Given the description of an element on the screen output the (x, y) to click on. 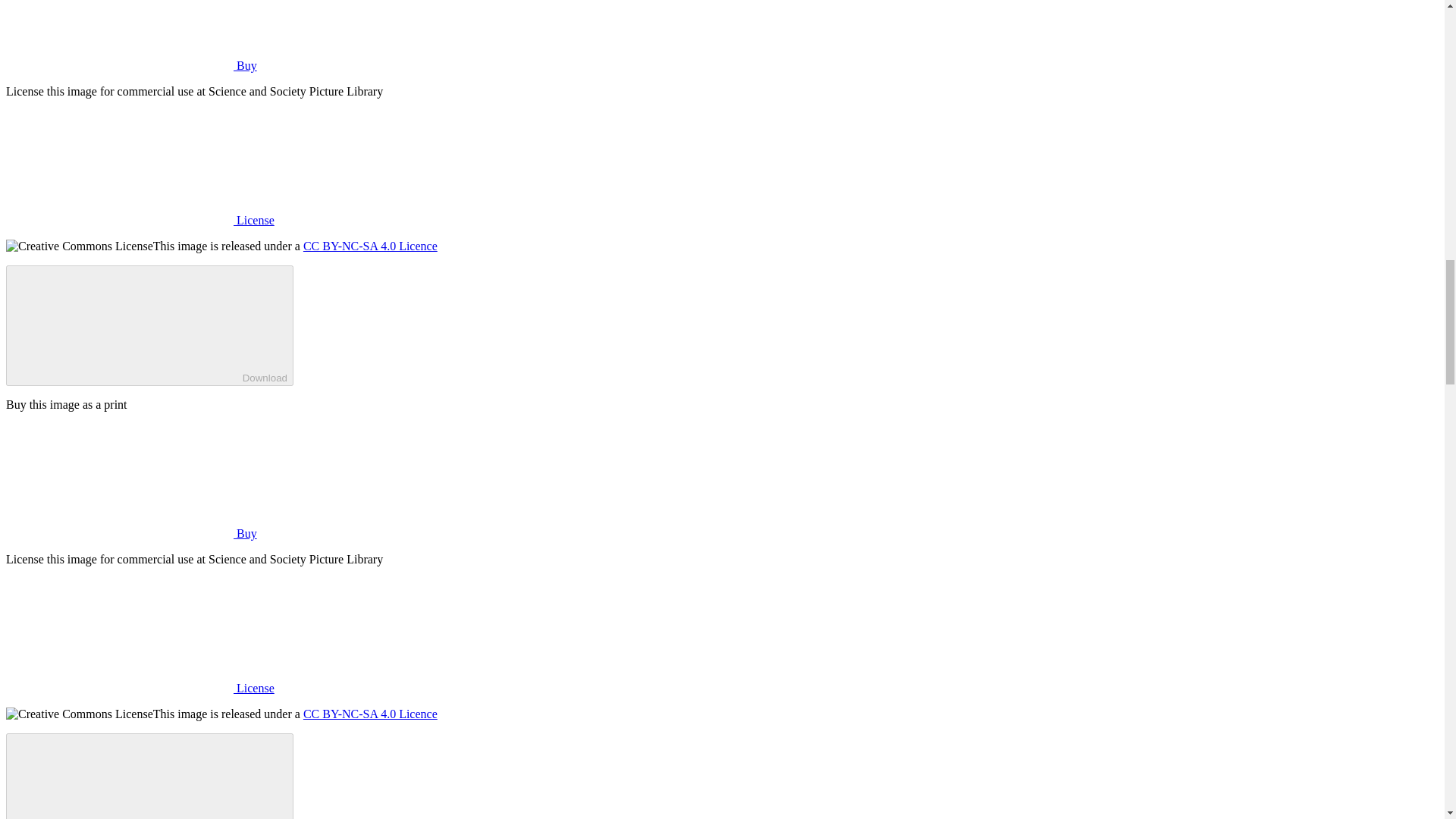
License (140, 219)
Buy (131, 65)
